Given the description of an element on the screen output the (x, y) to click on. 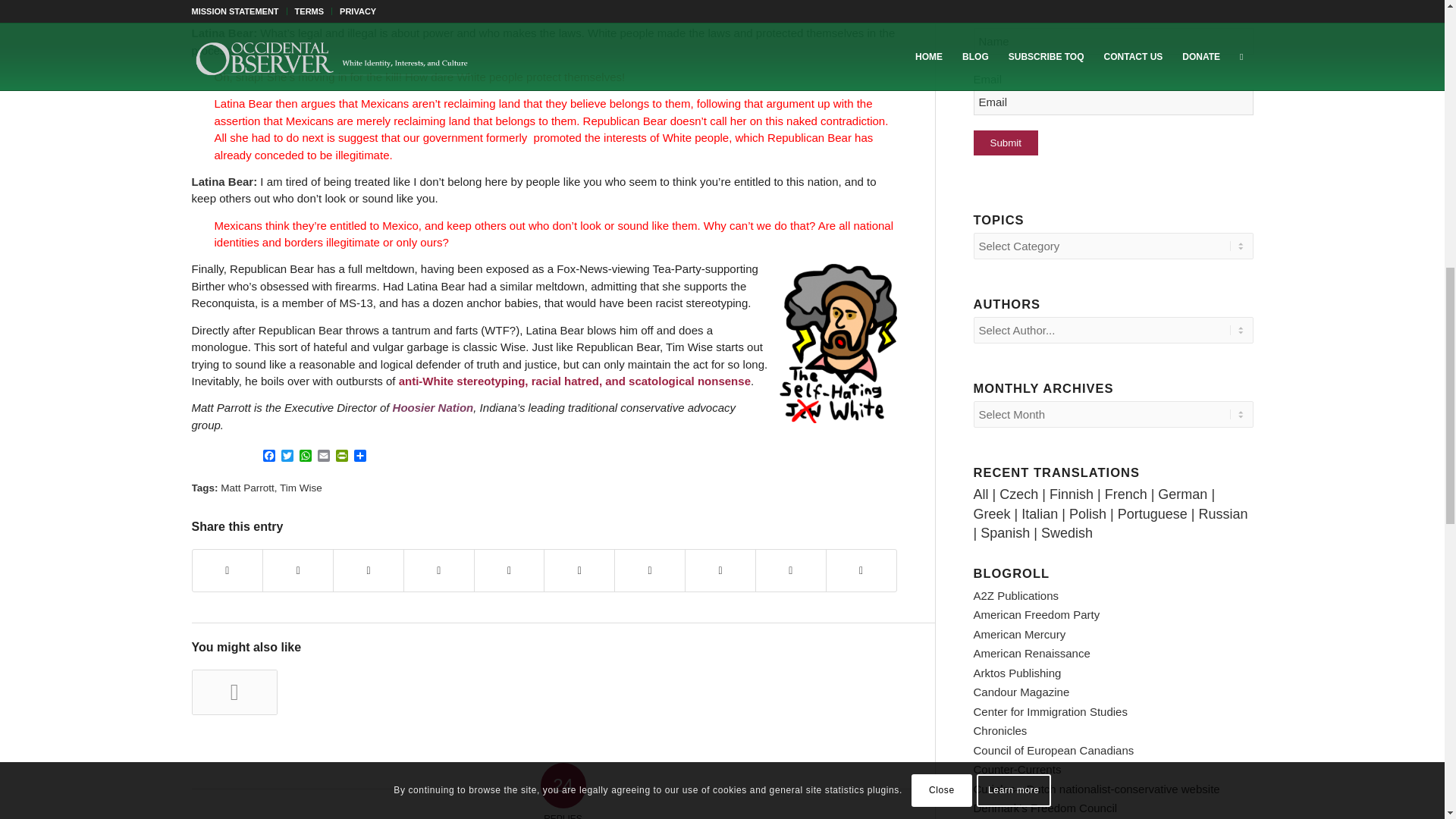
WhatsApp (304, 456)
Submit (1006, 142)
PrintFriendly (340, 456)
Facebook (268, 456)
Matt Parrott (248, 487)
Facebook (268, 456)
Twitter (286, 456)
Email (322, 456)
Hoosier Nation (433, 407)
Tim Wise (300, 487)
PrintFriendly (340, 456)
Twitter (286, 456)
Email (322, 456)
WhatsApp (304, 456)
